Given the description of an element on the screen output the (x, y) to click on. 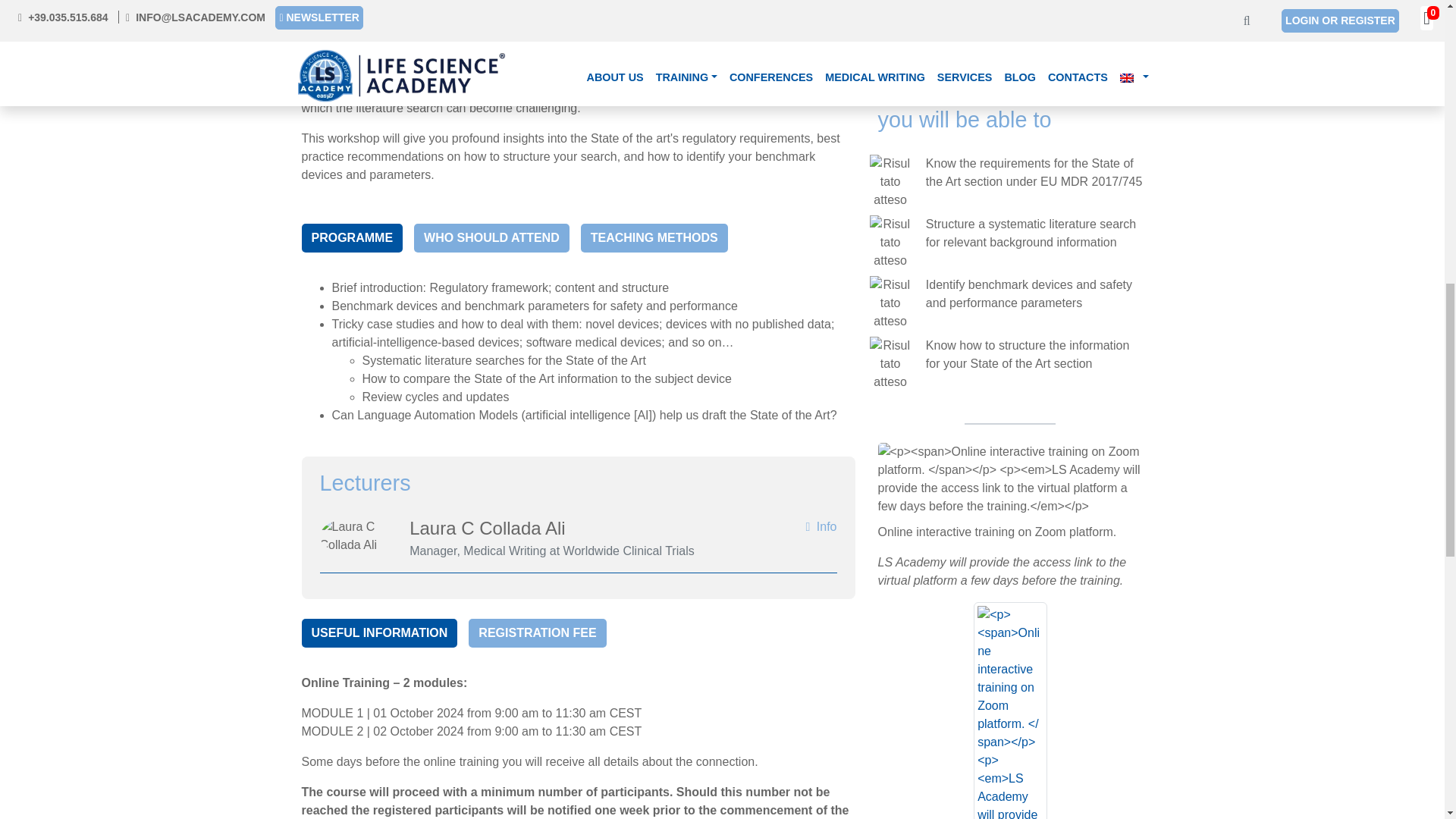
PRINTABLE VERSION (1009, 21)
REGISTRATION FEE (536, 633)
PROGRAMME (352, 237)
WHO SHOULD ATTEND (491, 237)
Info (820, 526)
TEACHING METHODS (654, 237)
USEFUL INFORMATION (379, 633)
